Given the description of an element on the screen output the (x, y) to click on. 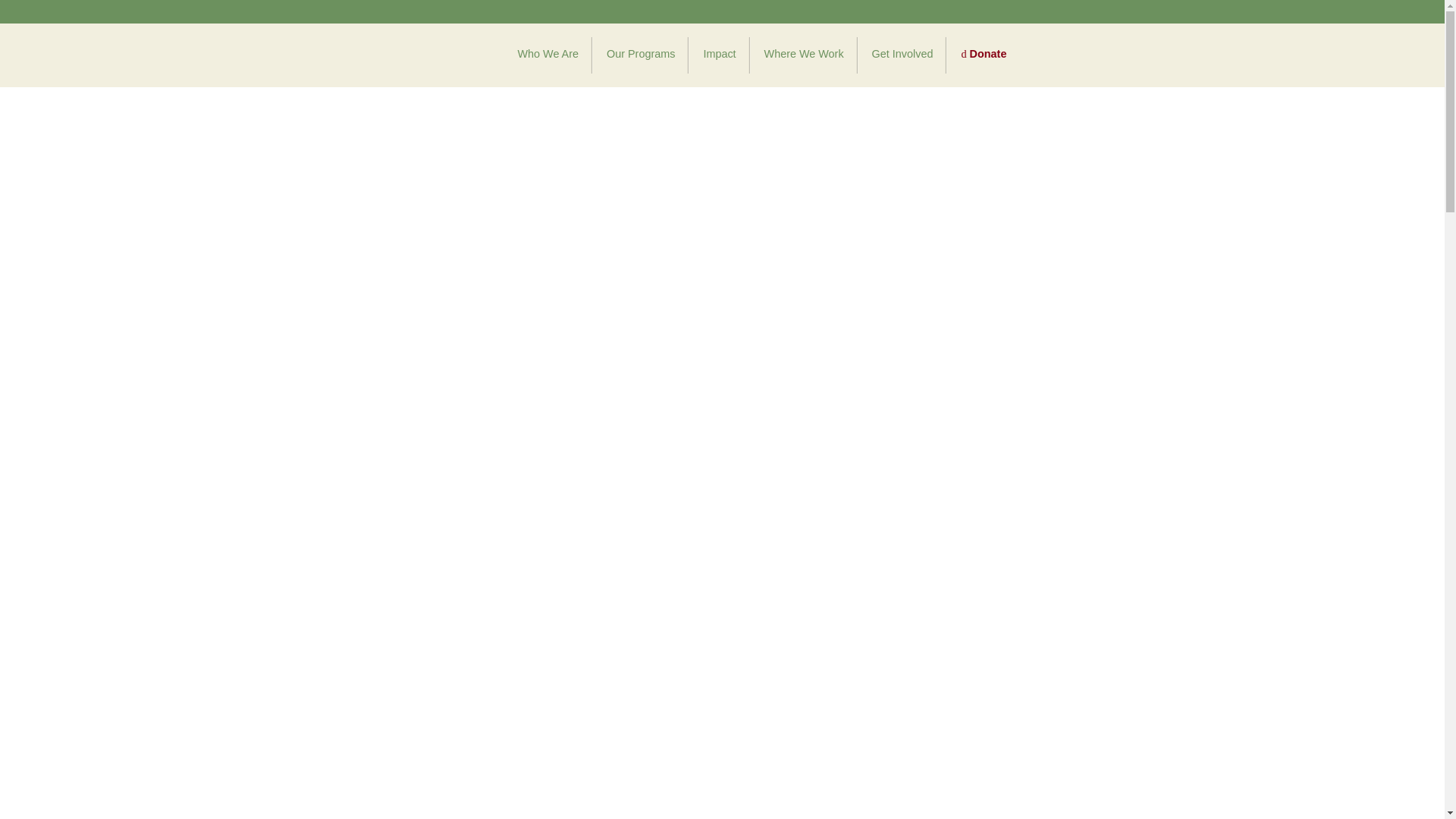
Who We Are (547, 54)
Our Programs (640, 54)
Impact (718, 54)
